Given the description of an element on the screen output the (x, y) to click on. 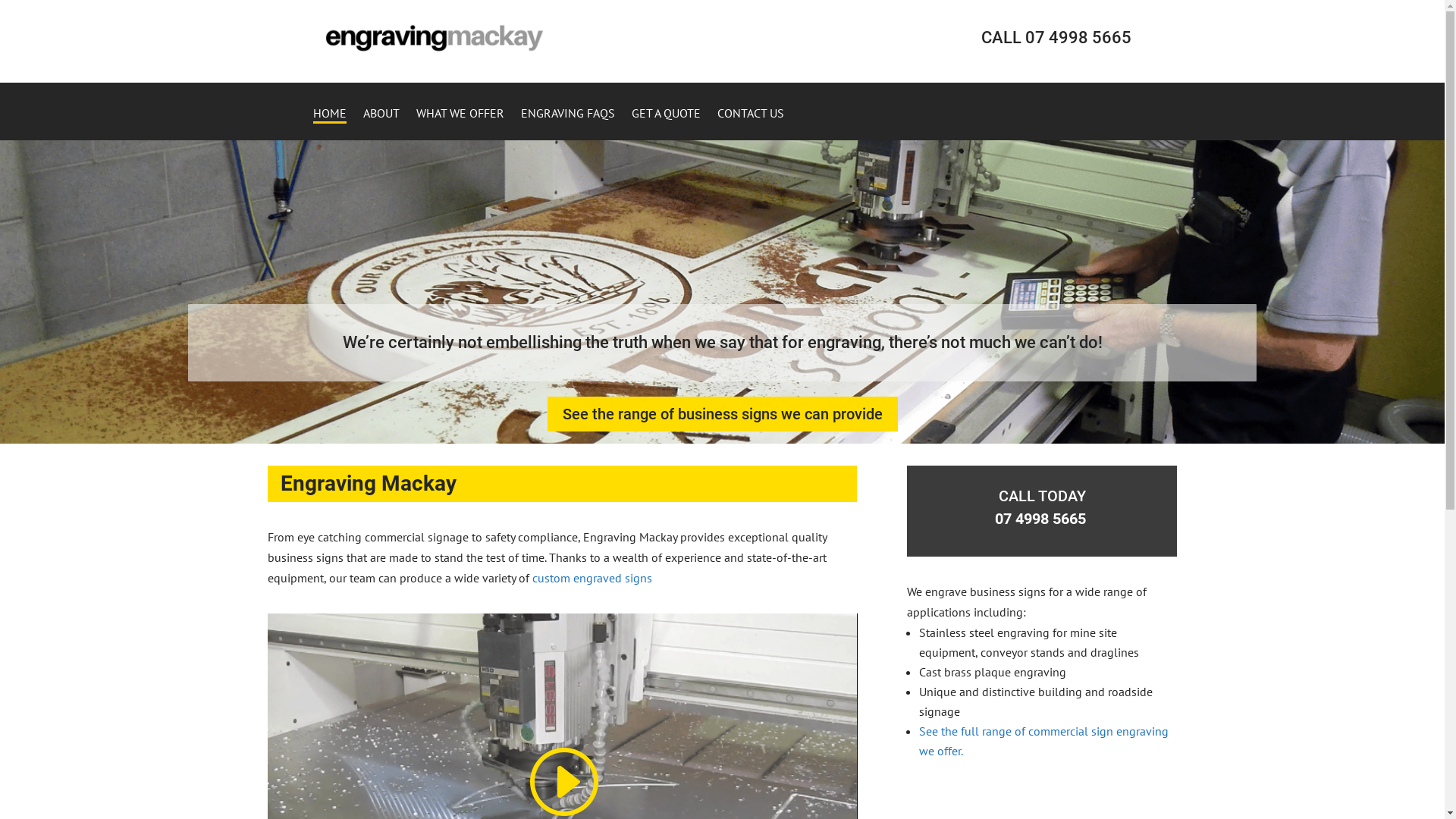
ENGRAVING FAQS Element type: text (567, 123)
See the full range of commercial sign engraving we offer. Element type: text (1043, 740)
CONTACT US Element type: text (750, 123)
ABOUT Element type: text (380, 123)
CALL 07 4998 5665 Element type: text (1056, 37)
custom engraved signs Element type: text (592, 577)
HOME Element type: text (328, 123)
See the range of business signs we can provide Element type: text (722, 413)
WHAT WE OFFER Element type: text (459, 123)
GET A QUOTE Element type: text (664, 123)
